Given the description of an element on the screen output the (x, y) to click on. 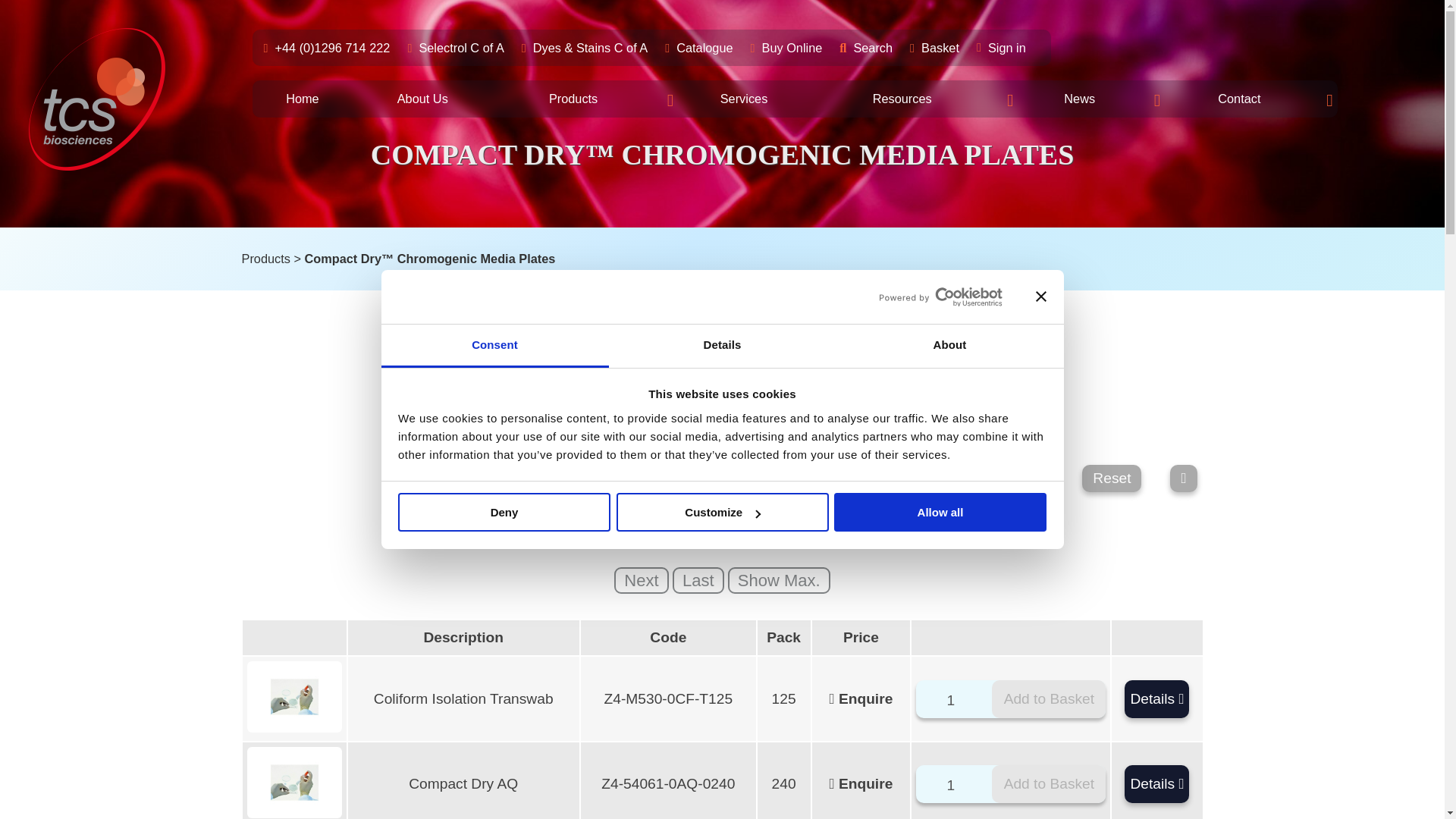
1 (956, 700)
Consent (494, 345)
Selectrol Certificates (461, 47)
About (948, 345)
Dyes and Stains Certificates (591, 47)
Phone Us (333, 47)
Add to Basket (1048, 783)
TCS Biosciences - Life Sciences Supplies (97, 99)
1 (956, 784)
View Catalogue (705, 47)
